Given the description of an element on the screen output the (x, y) to click on. 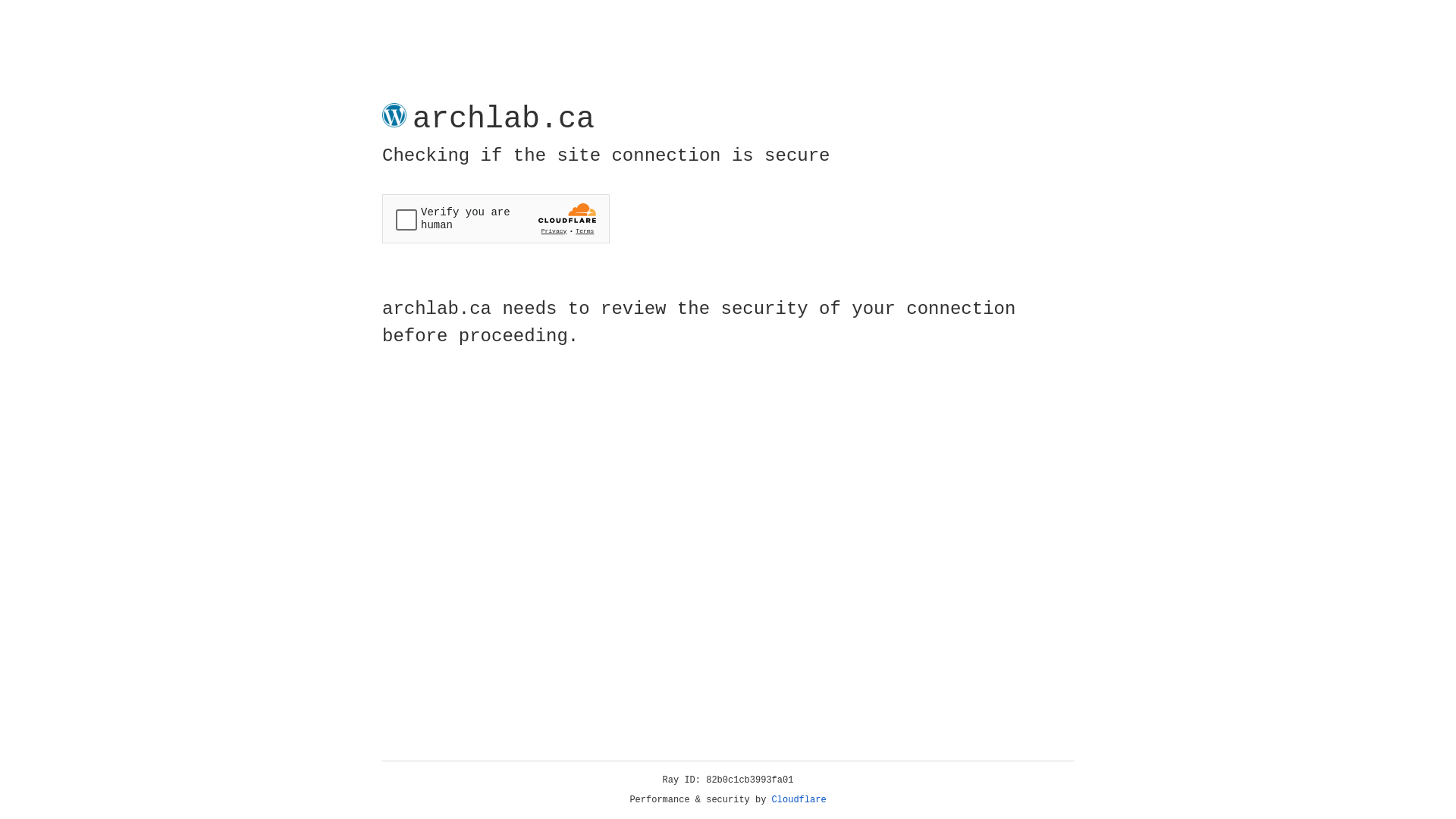
Widget containing a Cloudflare security challenge Element type: hover (495, 218)
Cloudflare Element type: text (798, 799)
